Given the description of an element on the screen output the (x, y) to click on. 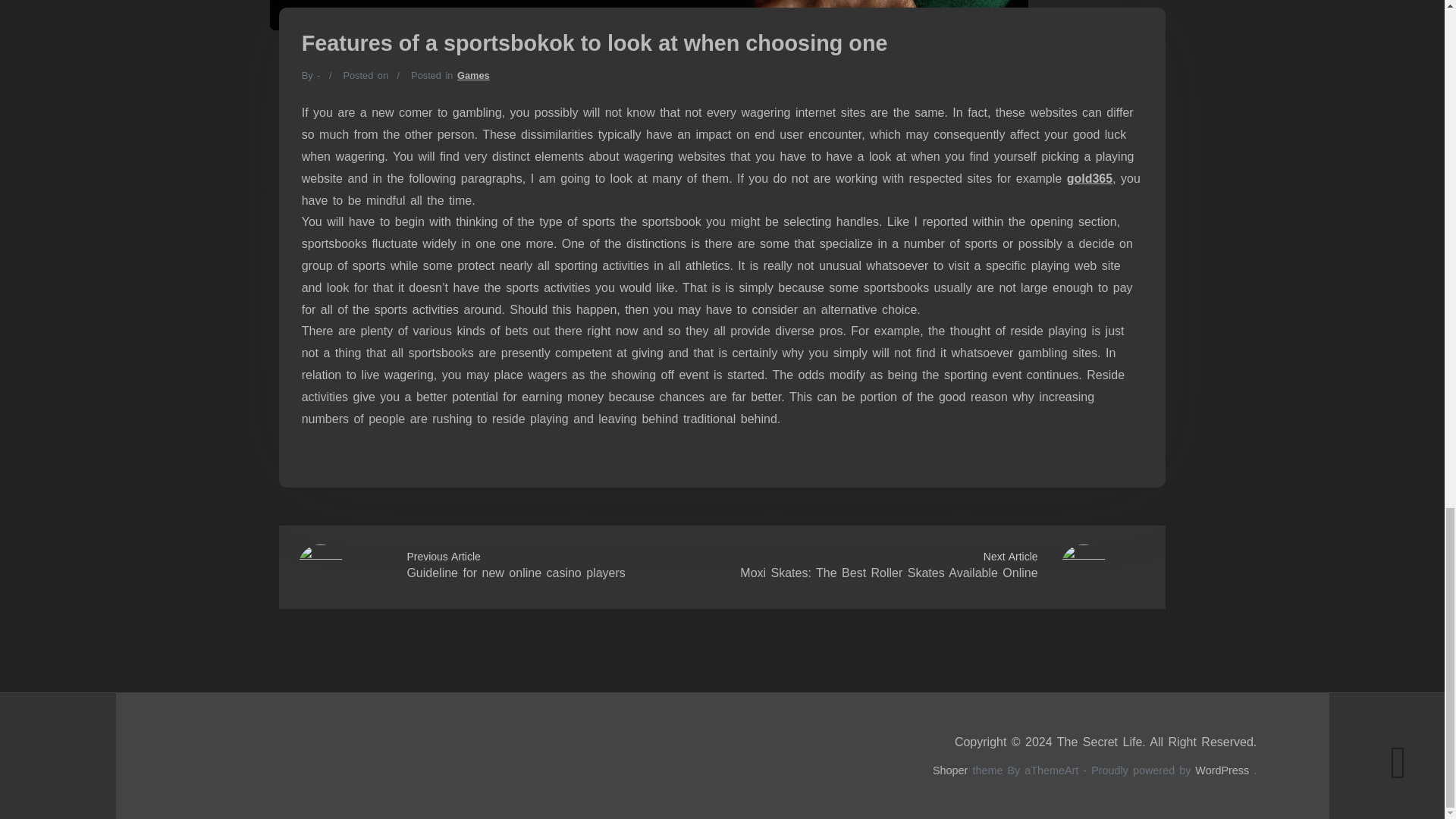
gold365 (1089, 178)
WordPress (1222, 770)
Shoper (950, 770)
Guideline for new online casino players (515, 572)
Games (473, 75)
Moxi Skates: The Best Roller Skates Available Online (887, 572)
